Given the description of an element on the screen output the (x, y) to click on. 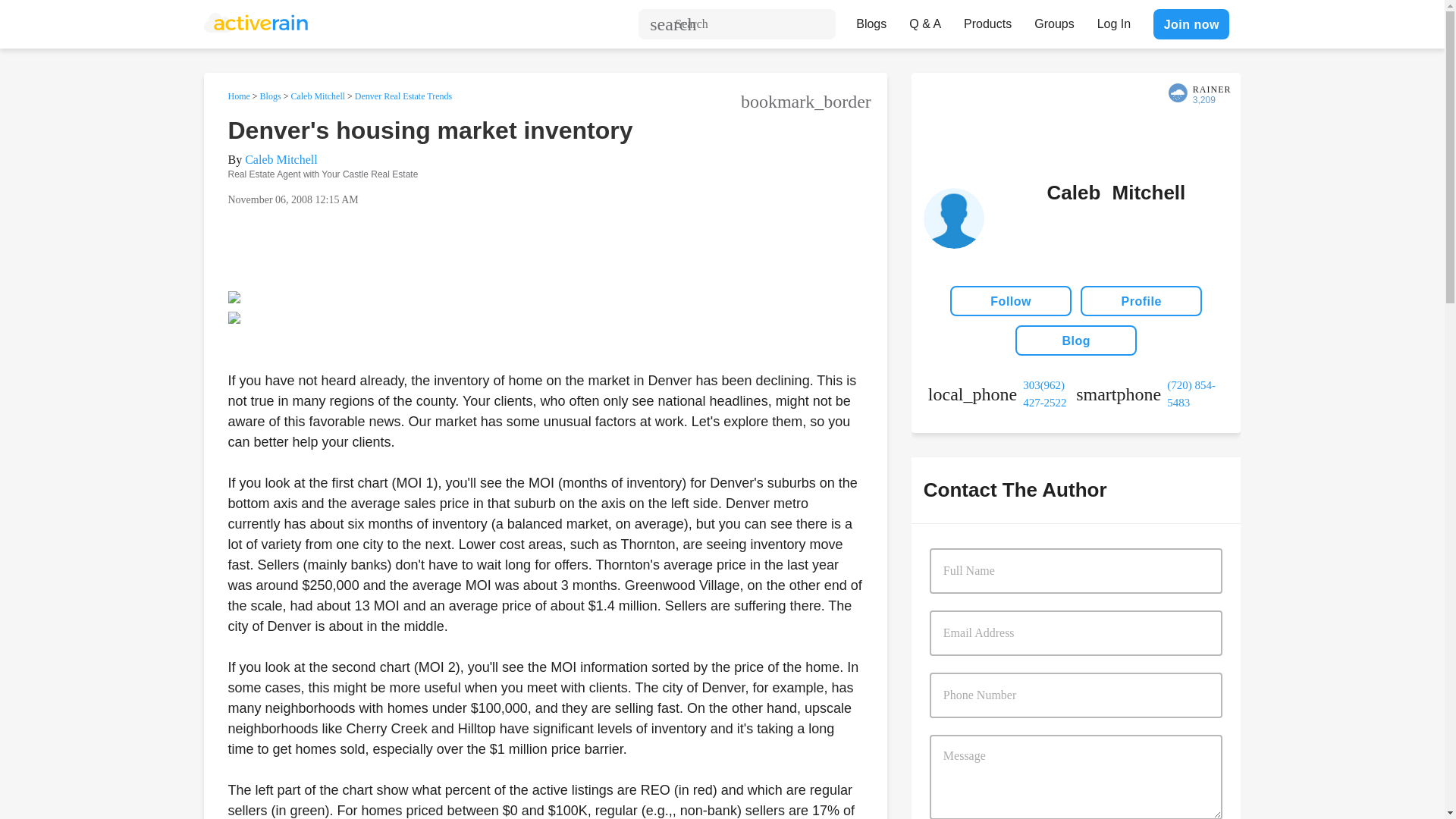
cell (1149, 393)
Log In (1113, 19)
Blogs (270, 95)
Groups (1053, 19)
Join now (1190, 24)
Caleb Mitchell (280, 159)
Denver Real Estate Trends (403, 95)
Blogs (870, 19)
work (1001, 393)
Products (986, 19)
Caleb Mitchell (317, 95)
Home (237, 95)
